Given the description of an element on the screen output the (x, y) to click on. 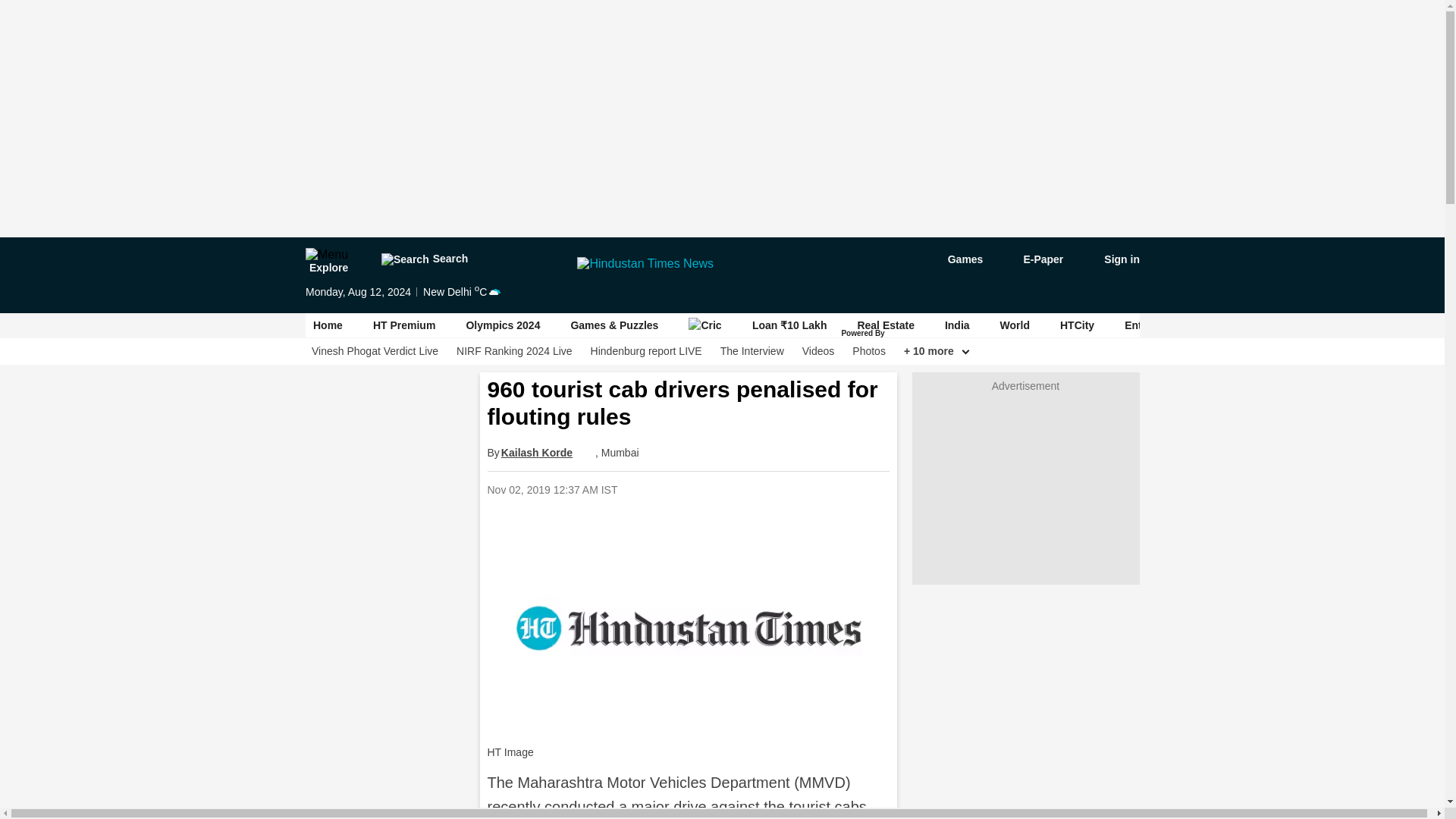
game (954, 258)
Trending (1248, 325)
Games (954, 258)
India (956, 325)
epaper (1034, 258)
Real Estate (885, 324)
Home (327, 325)
HT Premium (402, 325)
Share on Linkdin (788, 488)
Share on Twitter (749, 488)
